Given the description of an element on the screen output the (x, y) to click on. 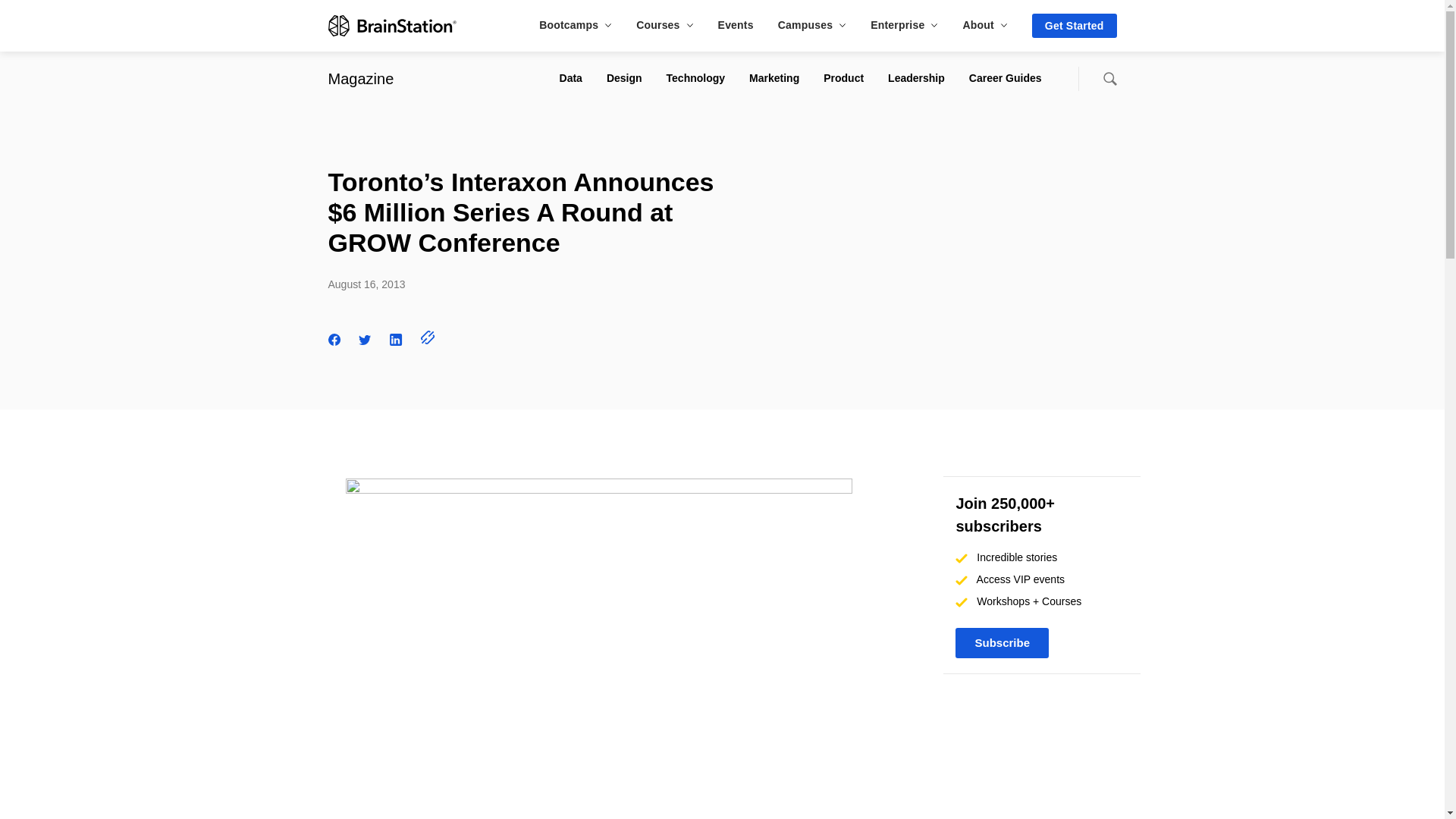
Search (1109, 78)
Events (735, 24)
About (984, 24)
Enterprise (903, 24)
Courses (664, 24)
BrainStation Magazine (360, 78)
Bootcamps (574, 24)
Campuses (811, 24)
